Given the description of an element on the screen output the (x, y) to click on. 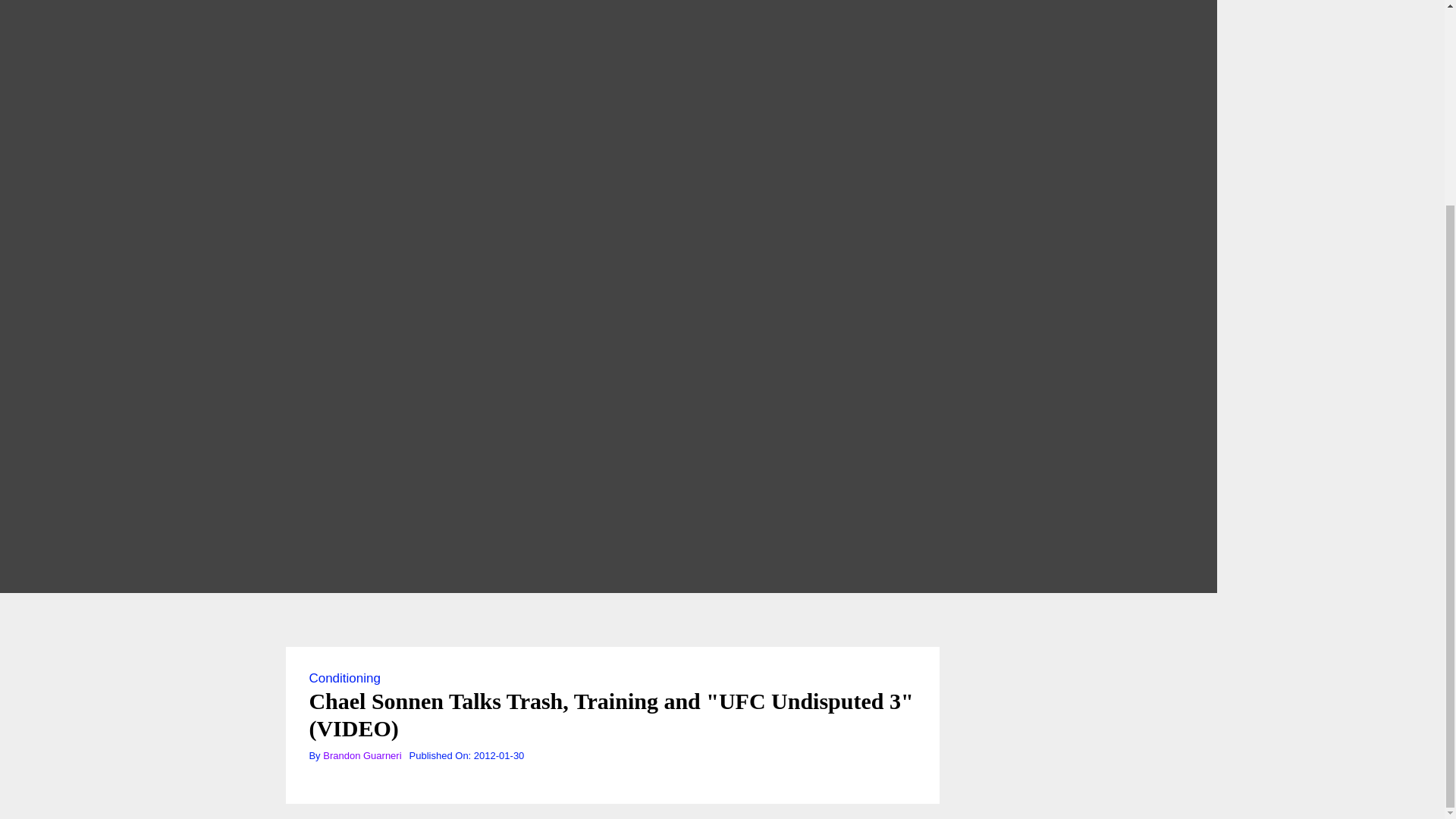
Posts by Brandon Guarneri (362, 755)
Conditioning (344, 677)
